Given the description of an element on the screen output the (x, y) to click on. 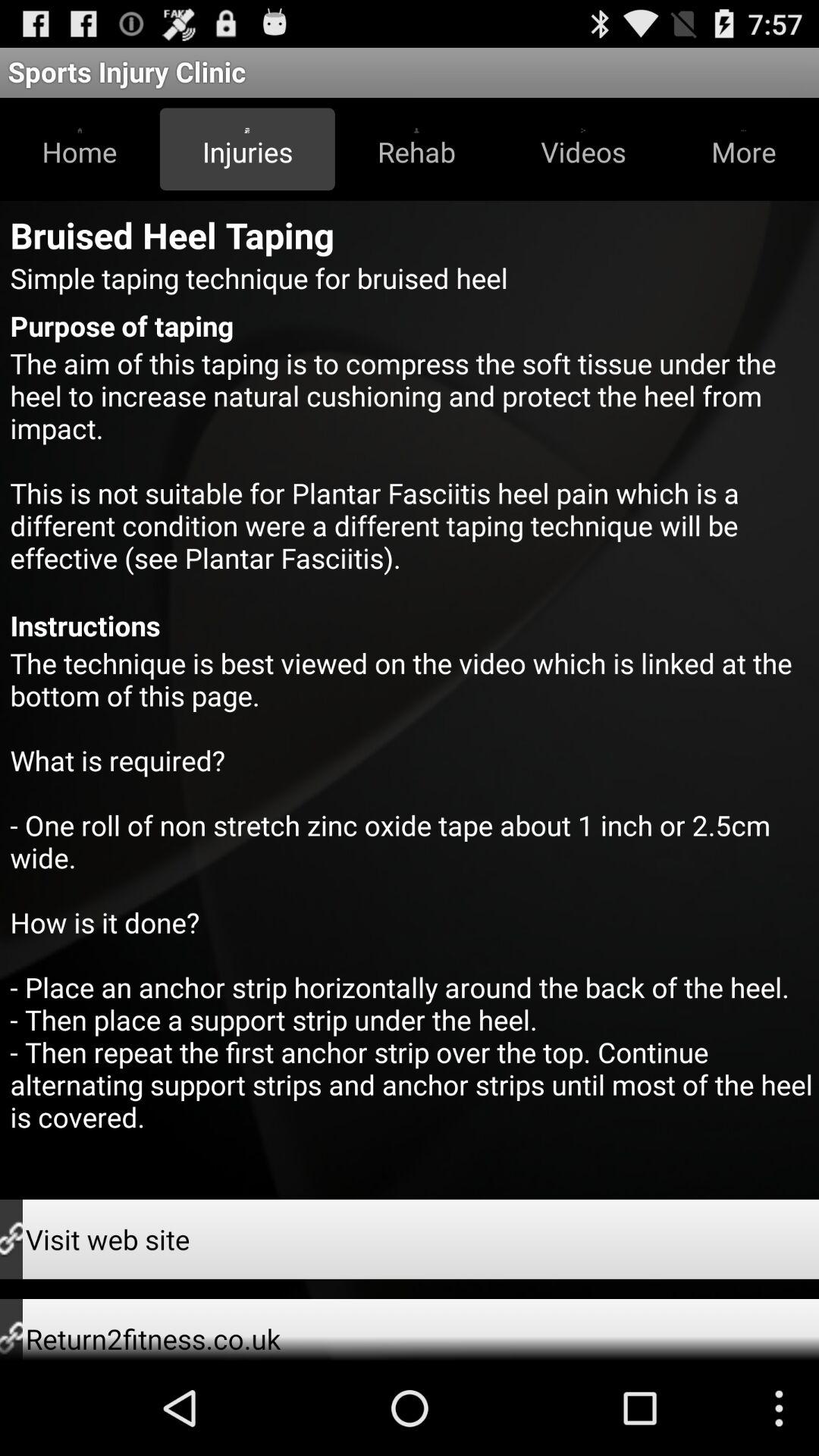
flip to the injuries item (246, 149)
